Given the description of an element on the screen output the (x, y) to click on. 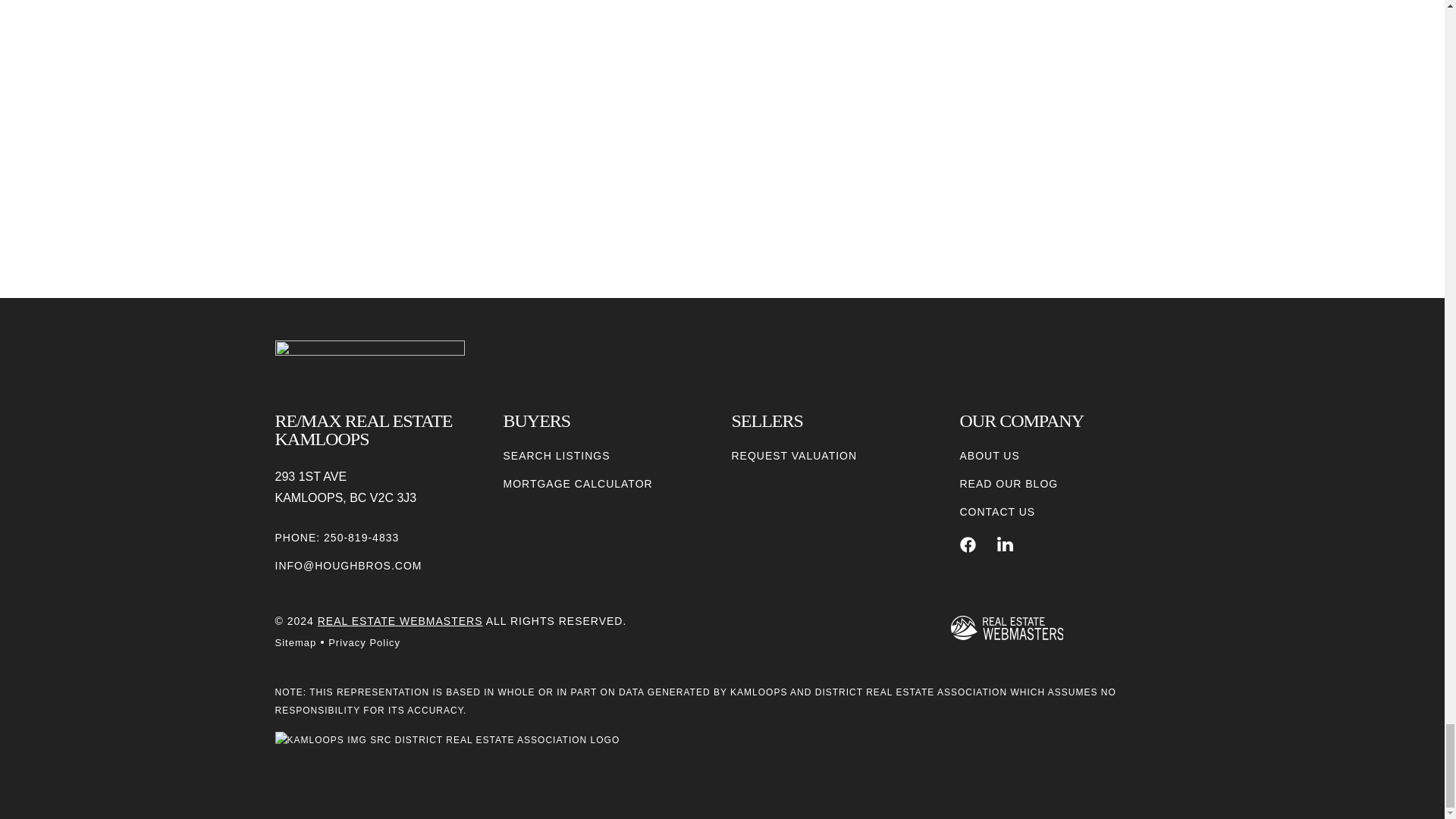
LINKEDIN (1005, 544)
FACEBOOK (967, 544)
